Given the description of an element on the screen output the (x, y) to click on. 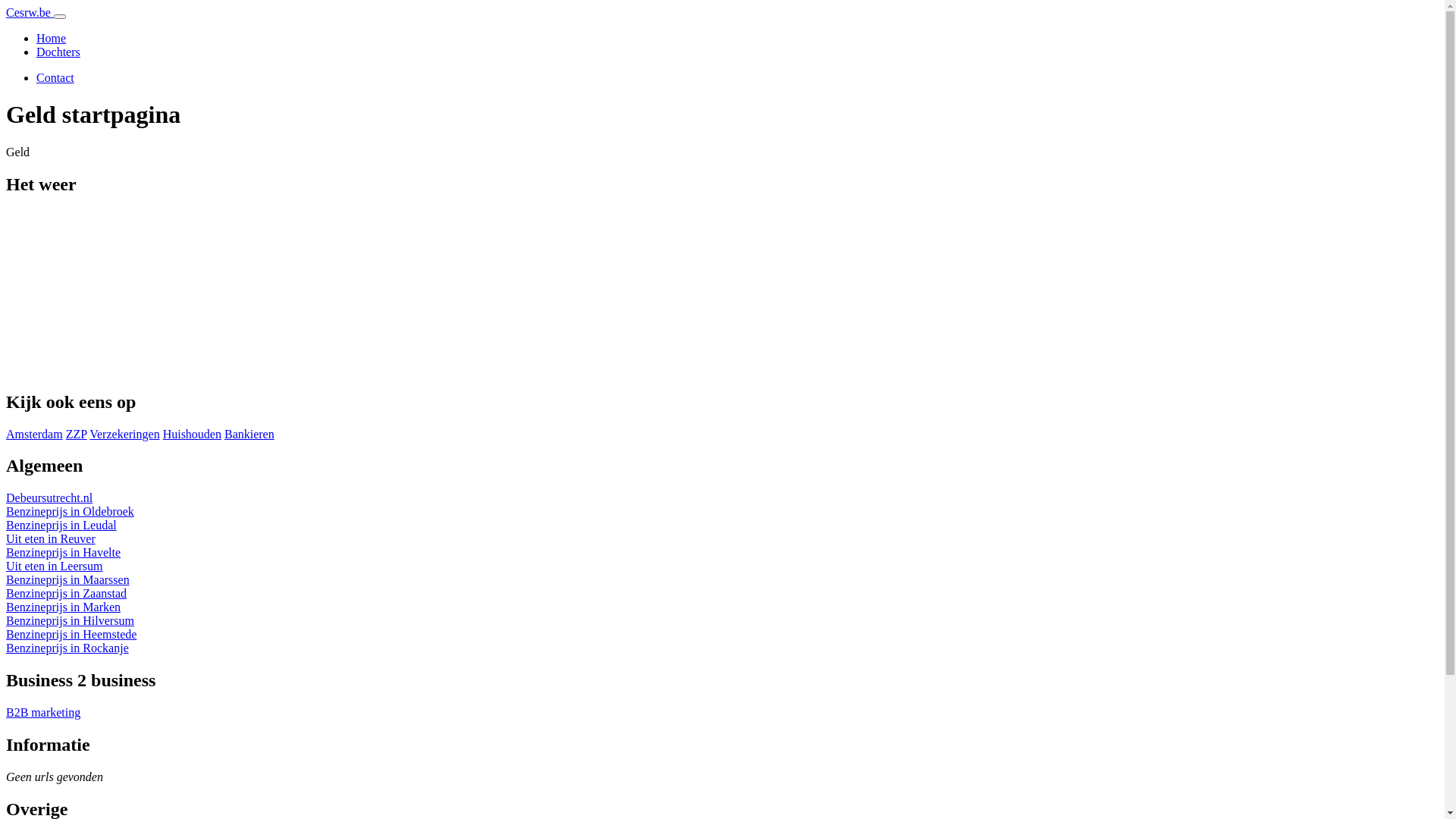
Benzineprijs in Hilversum Element type: text (70, 620)
Benzineprijs in Leudal Element type: text (61, 524)
Benzineprijs in Rockanje Element type: text (67, 647)
Debeursutrecht.nl Element type: text (49, 497)
Bankieren Element type: text (249, 433)
Benzineprijs in Heemstede Element type: text (71, 633)
Home Element type: text (50, 37)
Contact Element type: text (55, 77)
Benzineprijs in Maarssen Element type: text (67, 579)
Benzineprijs in Marken Element type: text (63, 606)
Cesrw.be Element type: text (29, 12)
Verzekeringen Element type: text (124, 433)
Benzineprijs in Havelte Element type: text (63, 552)
Uit eten in Reuver Element type: text (50, 538)
Benzineprijs in Zaanstad Element type: text (66, 592)
Dochters Element type: text (58, 51)
ZZP Element type: text (76, 433)
B2B marketing Element type: text (43, 712)
Uit eten in Leersum Element type: text (54, 565)
Huishouden Element type: text (192, 433)
Amsterdam Element type: text (34, 433)
Benzineprijs in Oldebroek Element type: text (70, 511)
